Given the description of an element on the screen output the (x, y) to click on. 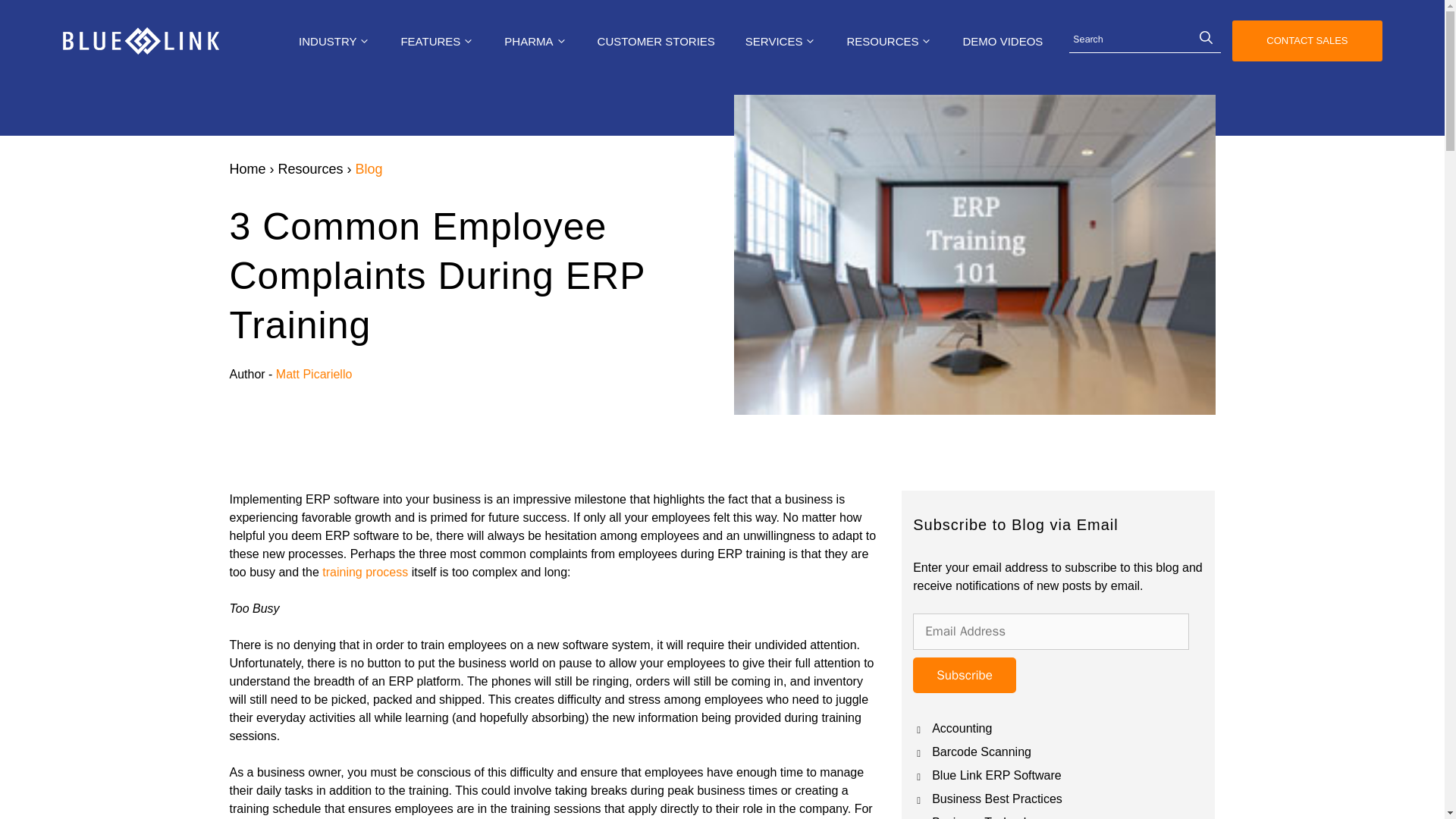
Blue Link ERP (140, 40)
Search for: (1144, 40)
INDUSTRY (334, 41)
FEATURES (437, 41)
